Given the description of an element on the screen output the (x, y) to click on. 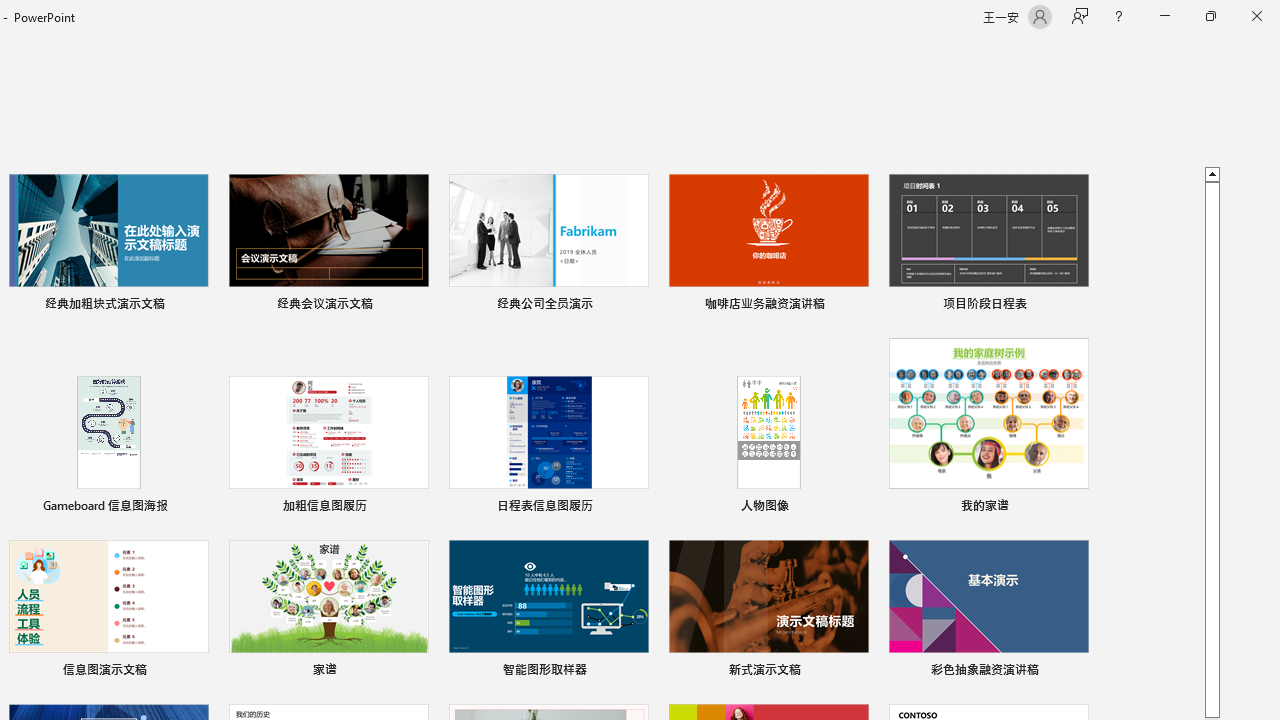
Pin to list (1075, 671)
